Given the description of an element on the screen output the (x, y) to click on. 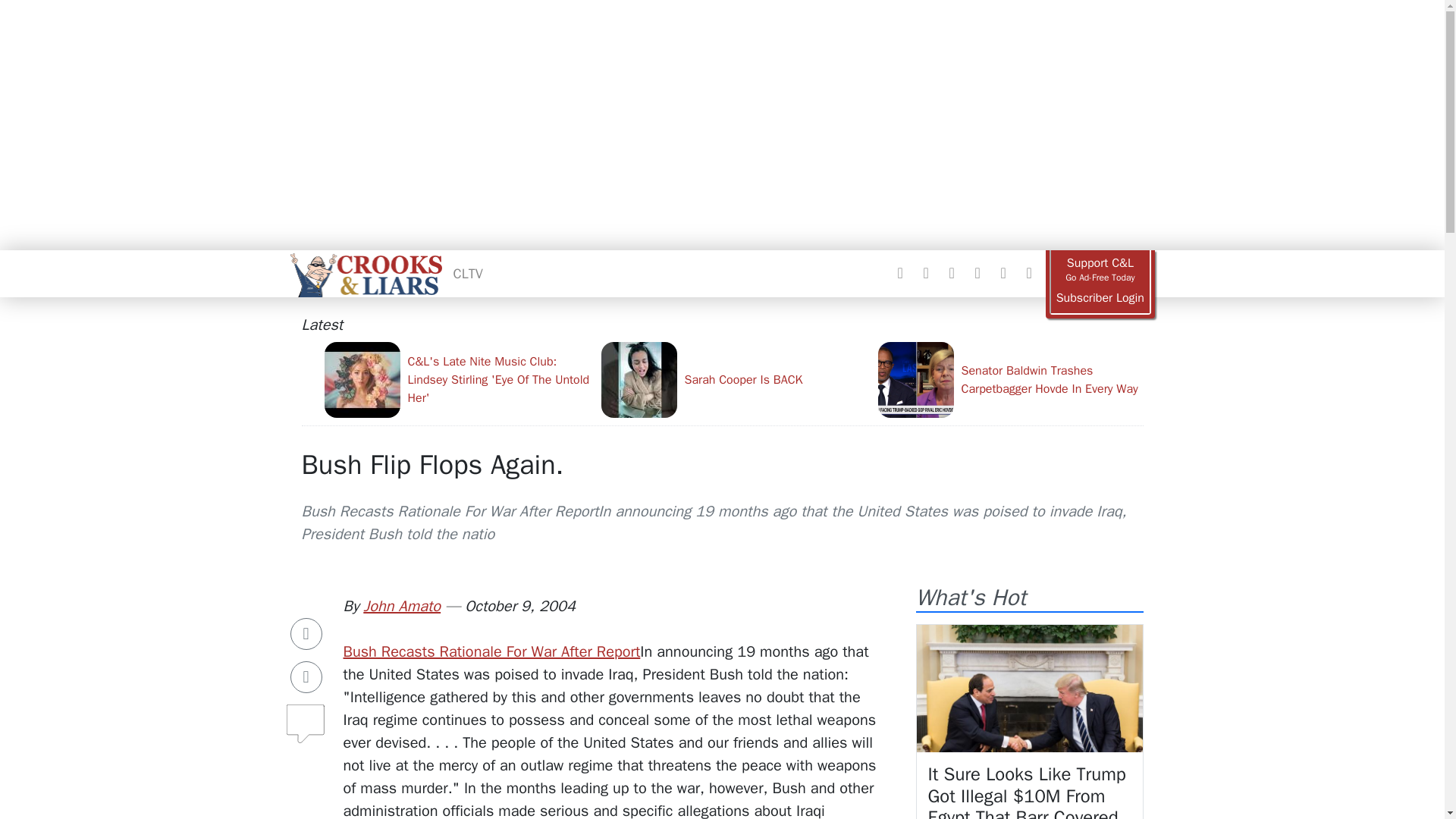
Sarah Cooper Is BACK (732, 379)
Go ad free today! (1099, 270)
Senator Baldwin Trashes Carpetbagger Hovde In Every Way (1009, 379)
John Amato (401, 606)
Share on Facebook (306, 634)
Subscriber Login (1099, 298)
Sarah Cooper Is BACK  (732, 379)
Bush Flip Flops Again. (432, 464)
Login to your ad free account (1099, 298)
Comments (306, 717)
